Given the description of an element on the screen output the (x, y) to click on. 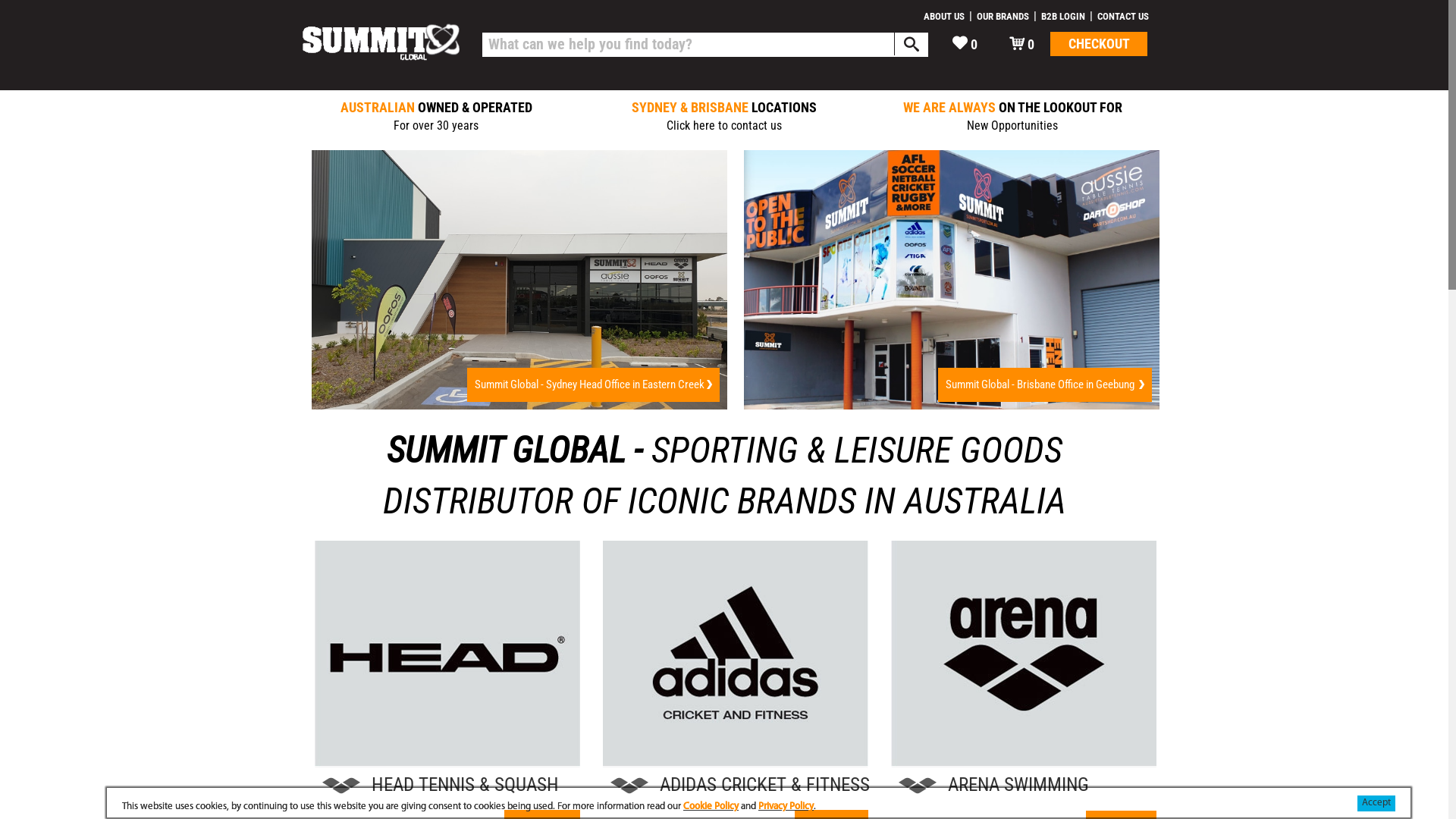
0 Element type: text (1021, 43)
Summit Global Element type: text (381, 44)
AUSTRALIAN OWNED & OPERATED
For over 30 years Element type: text (435, 115)
0 Element type: text (964, 43)
CHECKOUT Element type: text (1098, 43)
OUR BRANDS Element type: text (1002, 16)
ADIDAS CRICKET & FITNESS Element type: text (735, 784)
Summit Global - Brisbane Office in Geebung   Element type: text (1044, 384)
ABOUT US Element type: text (944, 16)
WE ARE ALWAYS ON THE LOOKOUT FOR
New Opportunities Element type: text (1012, 115)
ARENA SWIMMING Element type: text (1023, 784)
Cookie Policy Element type: text (710, 806)
Summit Global - Sydney Head Office in Eastern Creek  Element type: text (593, 384)
Privacy Policy Element type: text (785, 806)
Accept Element type: text (1376, 803)
HEAD TENNIS & SQUASH Element type: text (447, 784)
CONTACT US Element type: text (1122, 16)
SYDNEY & BRISBANE LOCATIONS
Click here to contact us Element type: text (723, 115)
B2B LOGIN Element type: text (1062, 16)
